Given the description of an element on the screen output the (x, y) to click on. 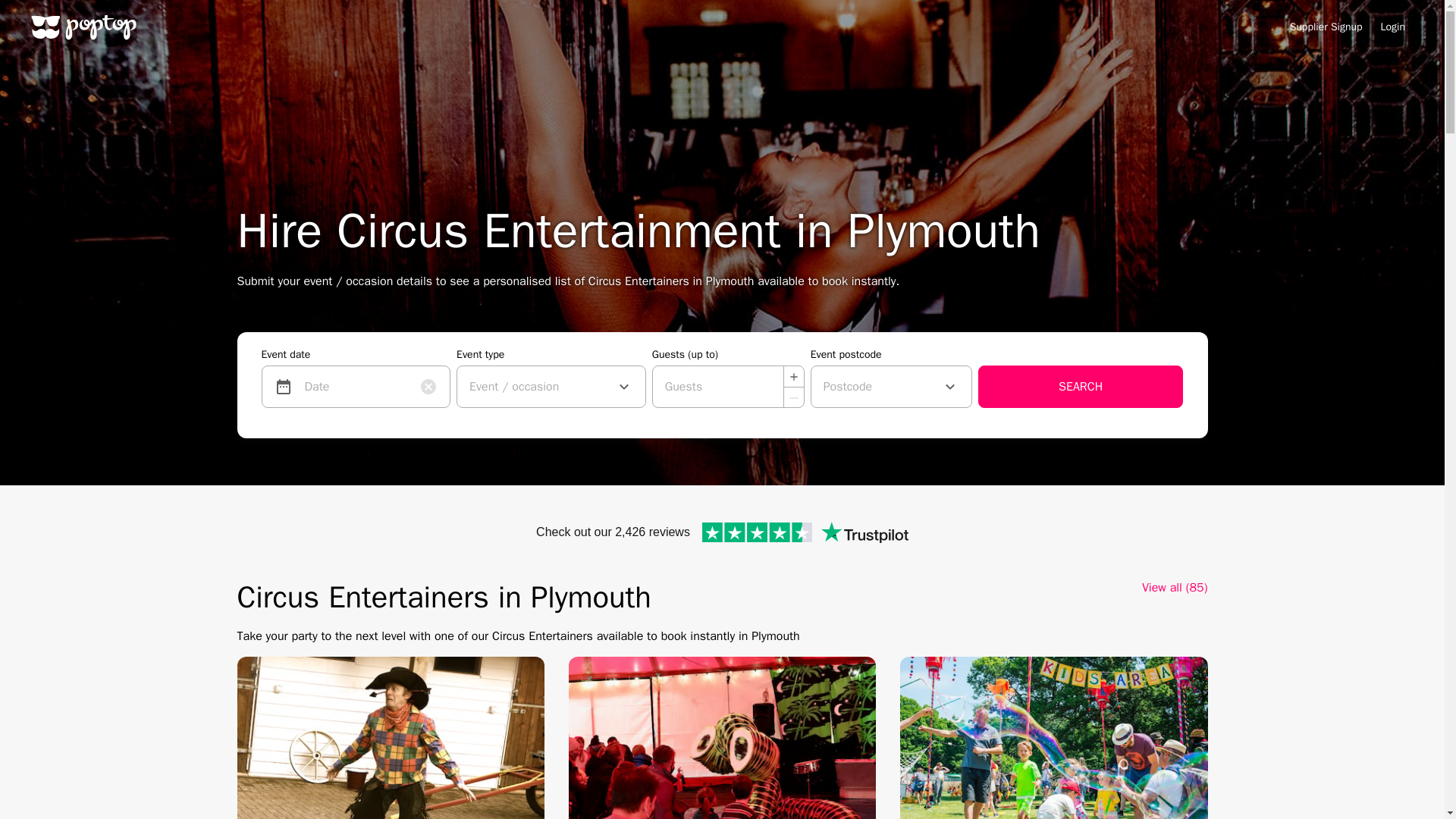
Customer reviews powered by Trustpilot (721, 531)
Login (1392, 26)
SEARCH (1080, 386)
Supplier Signup (1326, 26)
